Given the description of an element on the screen output the (x, y) to click on. 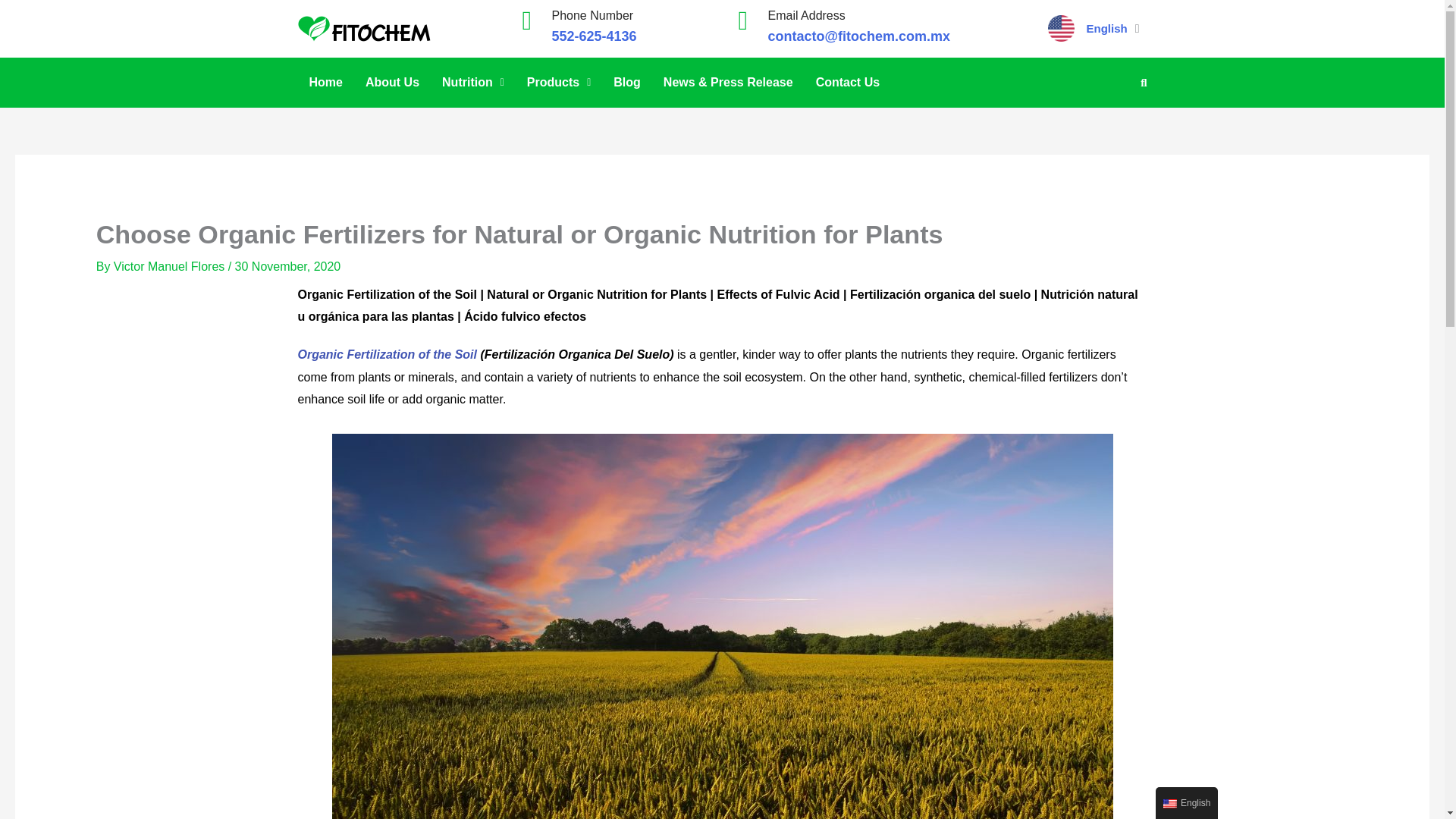
Email Address (805, 15)
Blog (627, 82)
English (1186, 803)
Products (558, 82)
Search (1138, 81)
Organic Fertilization of the Soil (388, 354)
About Us (391, 82)
English (1106, 28)
Home (325, 82)
Victor Manuel Flores (170, 266)
Nutrition (472, 82)
Contact Us (848, 82)
552-625-4136 (594, 36)
English (1169, 803)
Phone Number (592, 15)
